Given the description of an element on the screen output the (x, y) to click on. 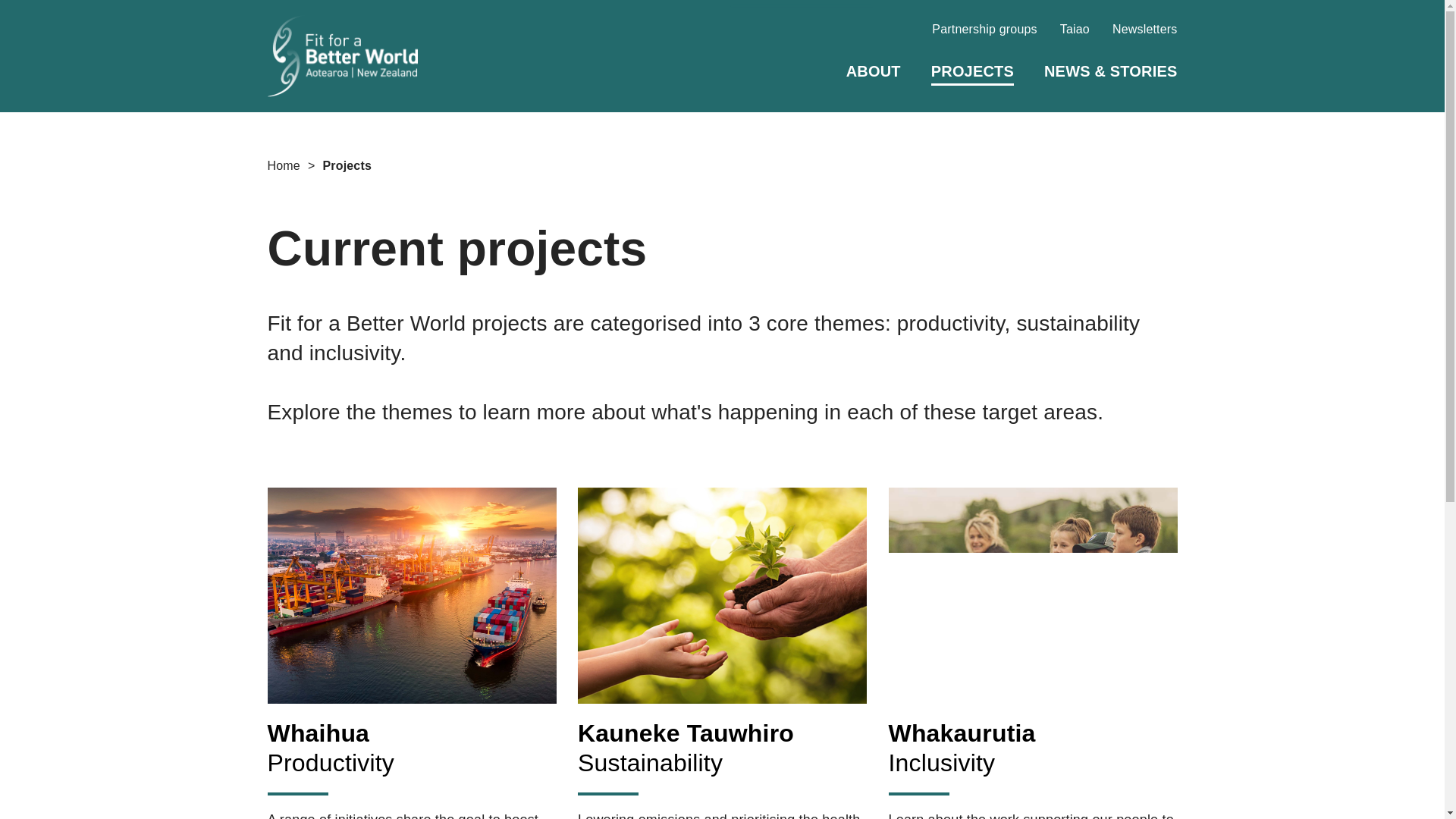
Partnership groups (722, 641)
ABOUT (983, 29)
Home (873, 70)
Newsletters (1032, 641)
Fit for a Better World (282, 164)
PROJECTS (1144, 29)
Taiao (341, 56)
